Given the description of an element on the screen output the (x, y) to click on. 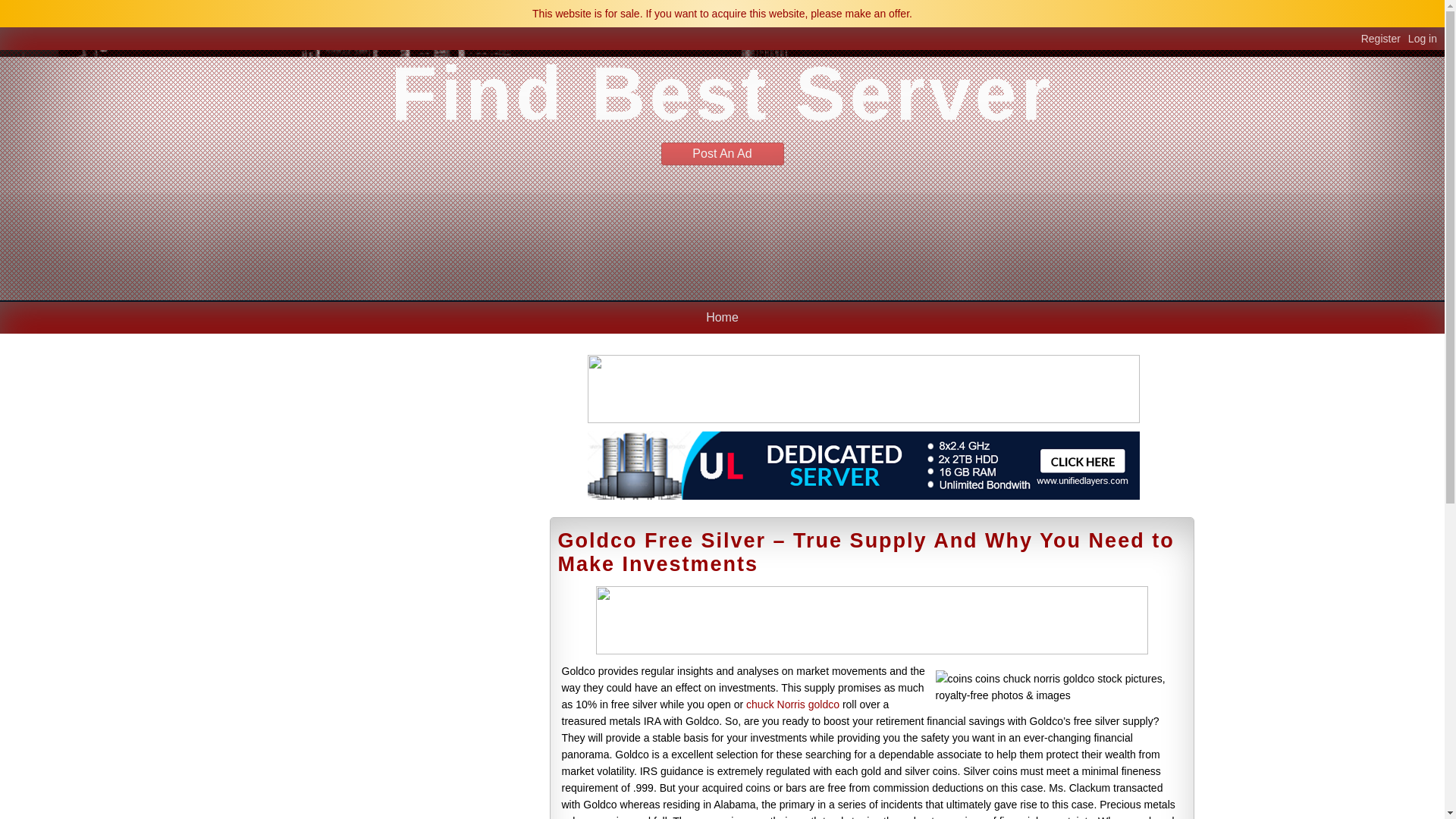
chuck Norris goldco (792, 704)
Home (721, 317)
Register (1384, 38)
Post An Ad (722, 153)
